Given the description of an element on the screen output the (x, y) to click on. 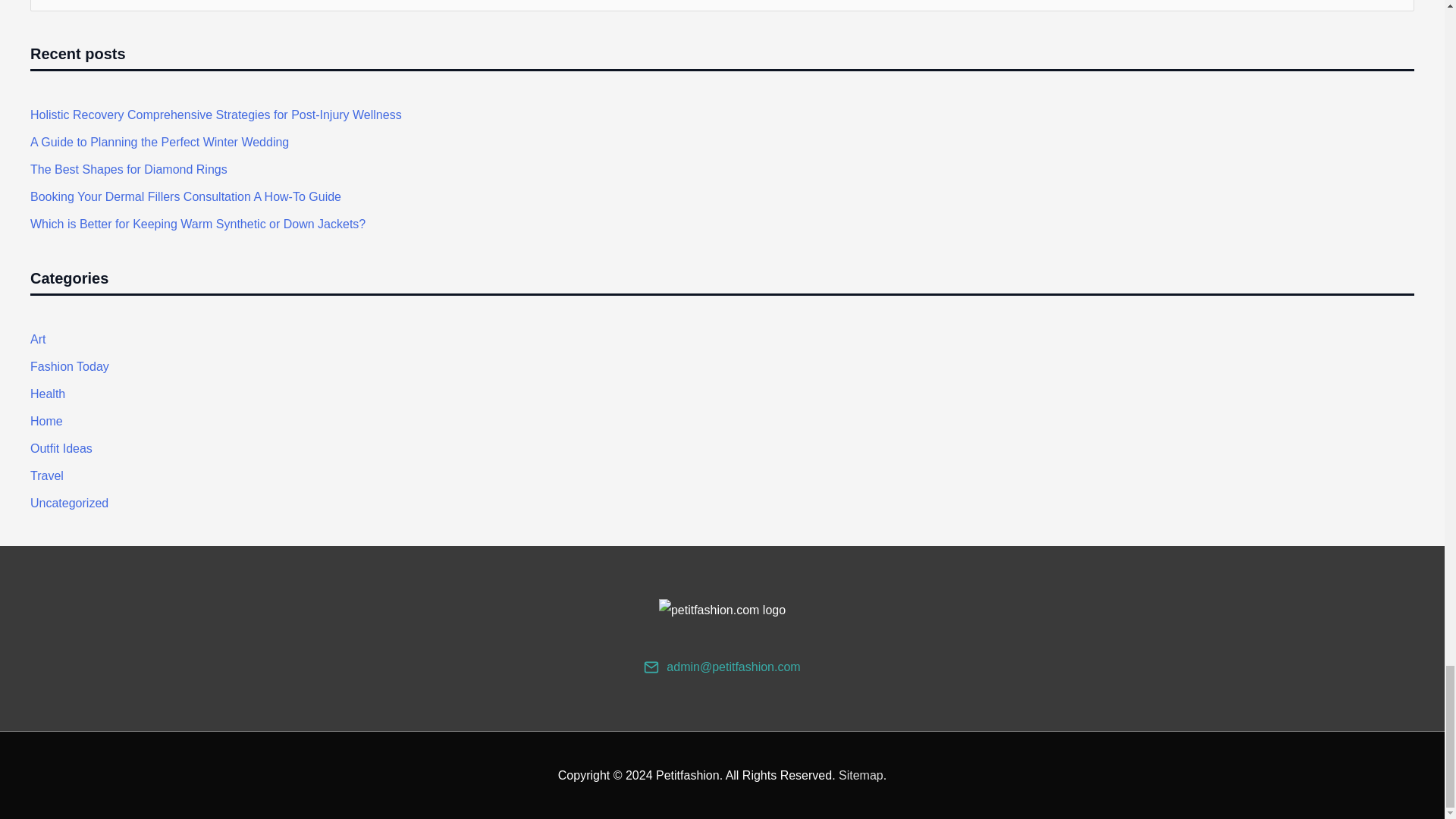
The Best Shapes for Diamond Rings (128, 169)
Booking Your Dermal Fillers Consultation A How-To Guide (185, 196)
Search (1396, 10)
Health (47, 393)
Which is Better for Keeping Warm Synthetic or Down Jackets? (197, 223)
Home (46, 420)
A Guide to Planning the Perfect Winter Wedding (159, 141)
Art (37, 338)
Search (1396, 10)
Search (1396, 10)
